Given the description of an element on the screen output the (x, y) to click on. 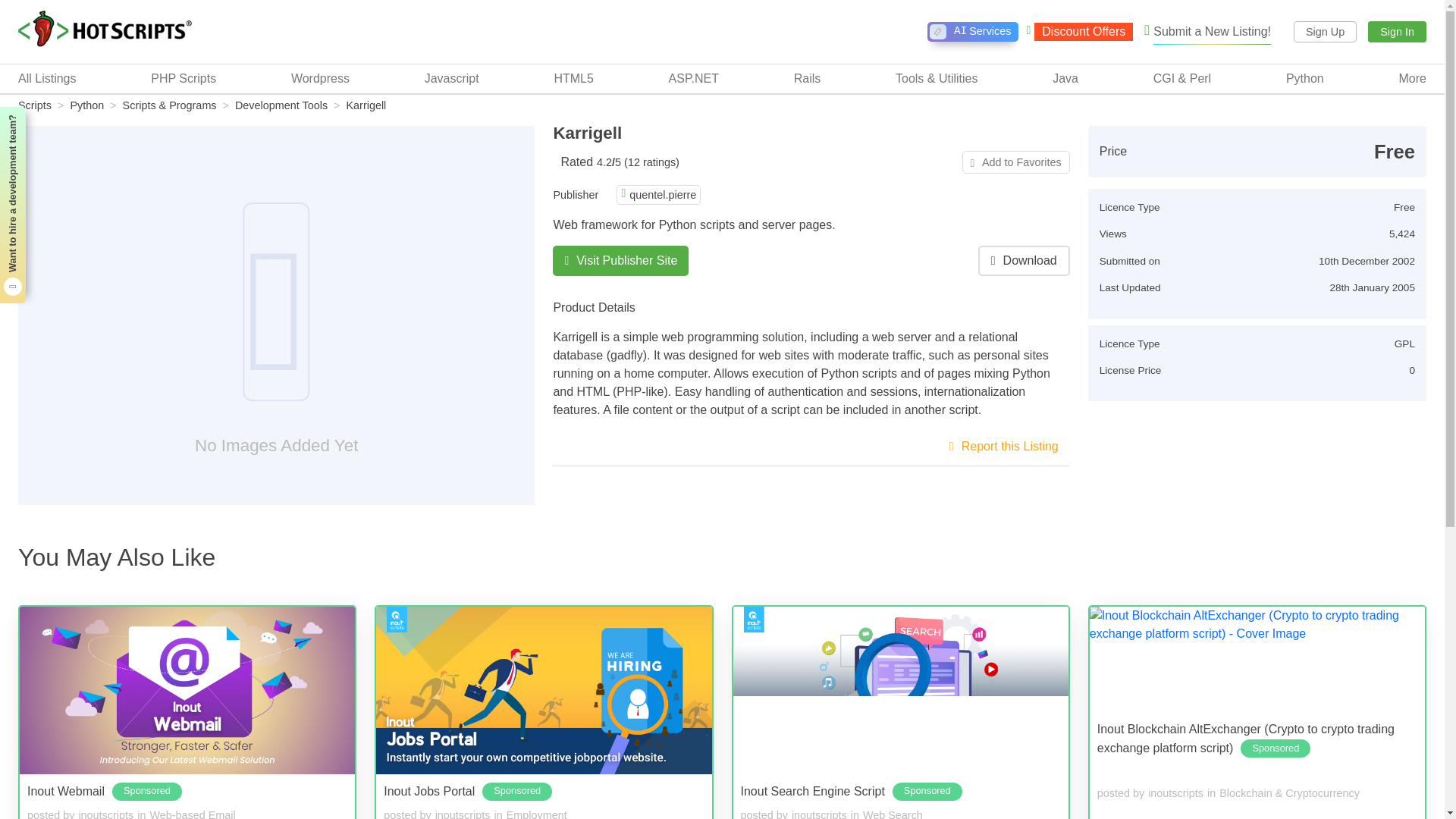
Visit Listing - Inout Search Engine Script (899, 689)
Visit Listing - Inout Webmail (187, 689)
All Listings (46, 78)
HotScripts (104, 29)
Sign In (1397, 31)
PHP Scripts (183, 78)
Discount Offers (1079, 31)
Submit a New Listing! (1207, 31)
Sign Up (1325, 31)
Visit Listing - Inout Jobs Portal (543, 689)
